Given the description of an element on the screen output the (x, y) to click on. 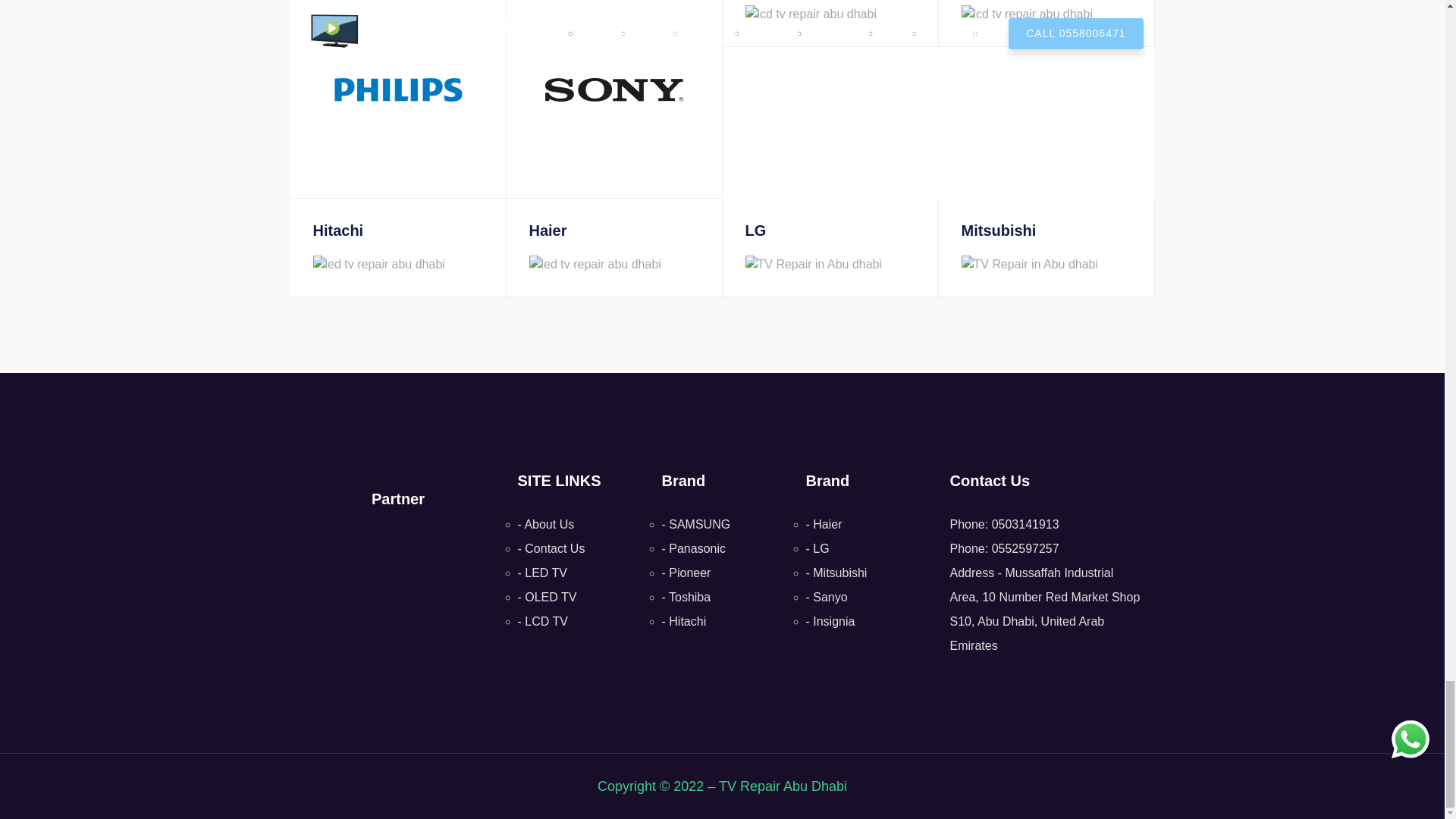
- Haier (823, 523)
- SAMSUNG (695, 523)
- LG (816, 548)
- Mitsubishi (835, 572)
- Sanyo (826, 596)
- Contact Us (550, 548)
- Panasonic (693, 548)
- Toshiba (685, 596)
- About Us (544, 523)
- Hitachi (683, 621)
- Insignia (829, 621)
- OLED TV (546, 596)
- LCD TV (541, 621)
- LED TV (541, 572)
- Pioneer (685, 572)
